Given the description of an element on the screen output the (x, y) to click on. 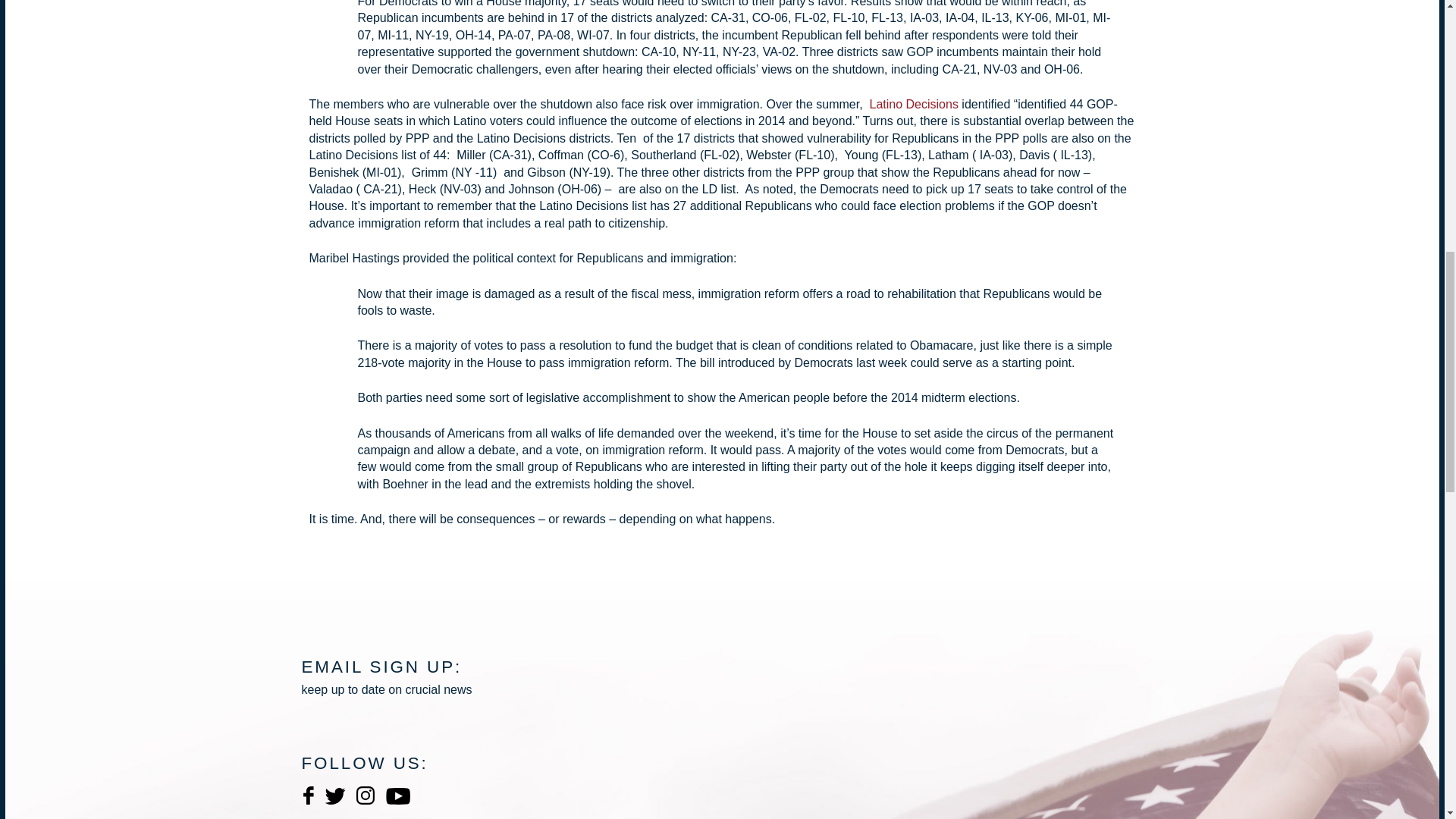
 Latino Decisions (912, 103)
